Given the description of an element on the screen output the (x, y) to click on. 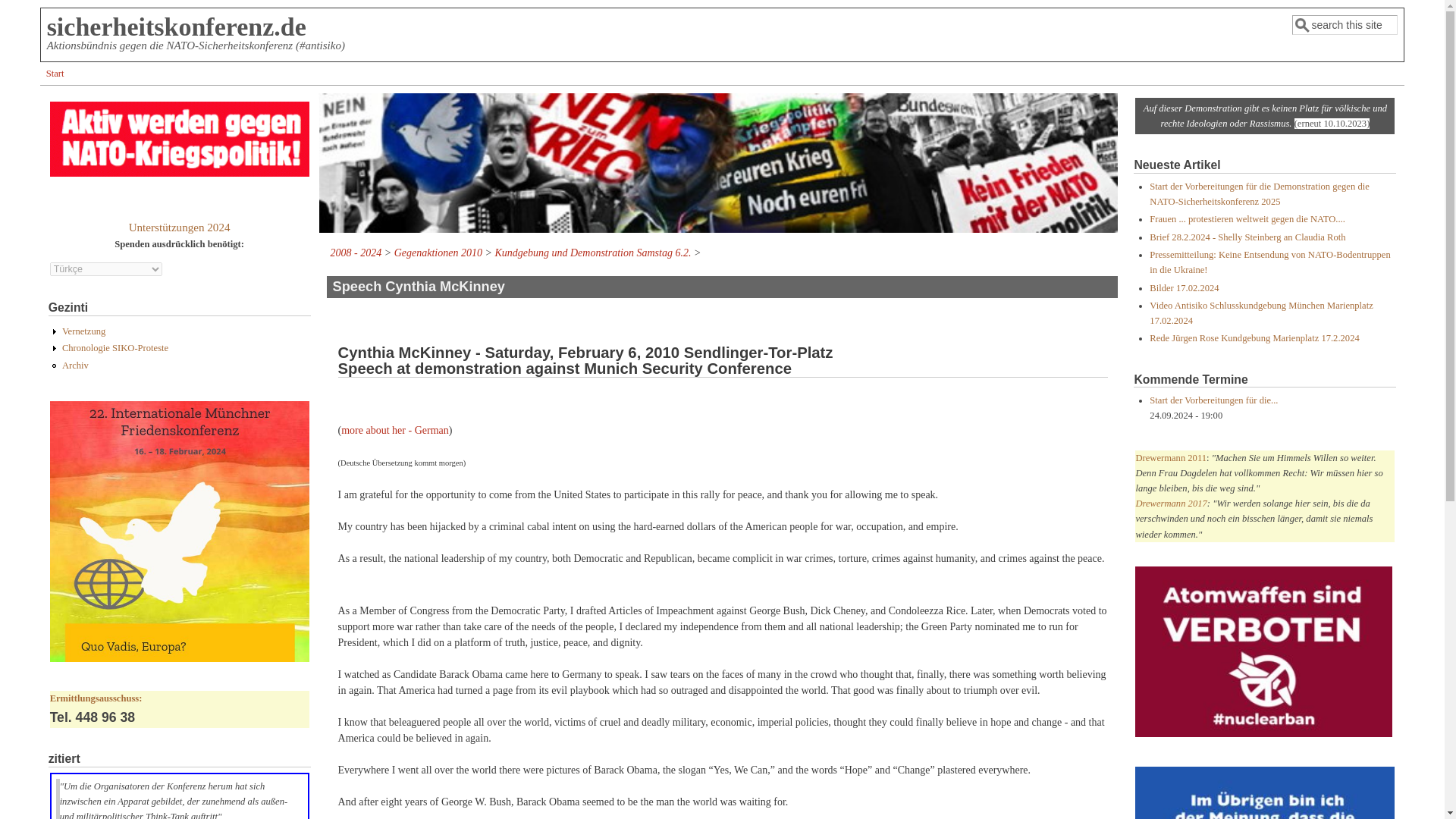
Archiv (75, 365)
ab 2008 (115, 347)
Atomwaffenverbotsvertrag in Kraft (1263, 651)
Frauen ... protestieren weltweit gegen die NATO.... (1247, 218)
Anasayfa (175, 26)
more about her - German (394, 430)
Gegenaktionen 2010 (437, 252)
www.fotobocks.de (718, 162)
Zusammenarbeit im Web mit Anderen (83, 330)
